Given the description of an element on the screen output the (x, y) to click on. 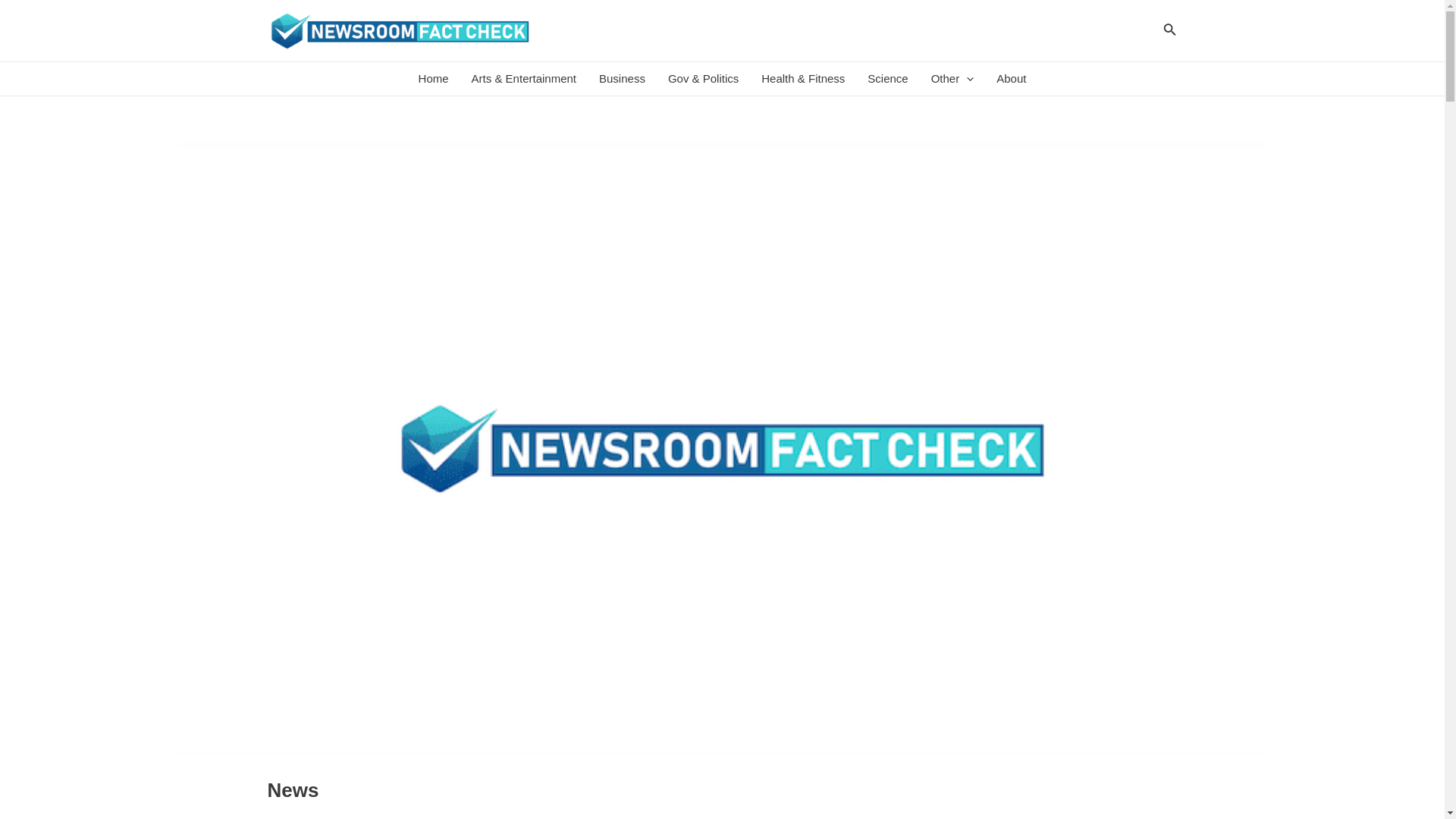
Other (952, 78)
Science (887, 78)
Home (433, 78)
About (1010, 78)
Business (622, 78)
